Given the description of an element on the screen output the (x, y) to click on. 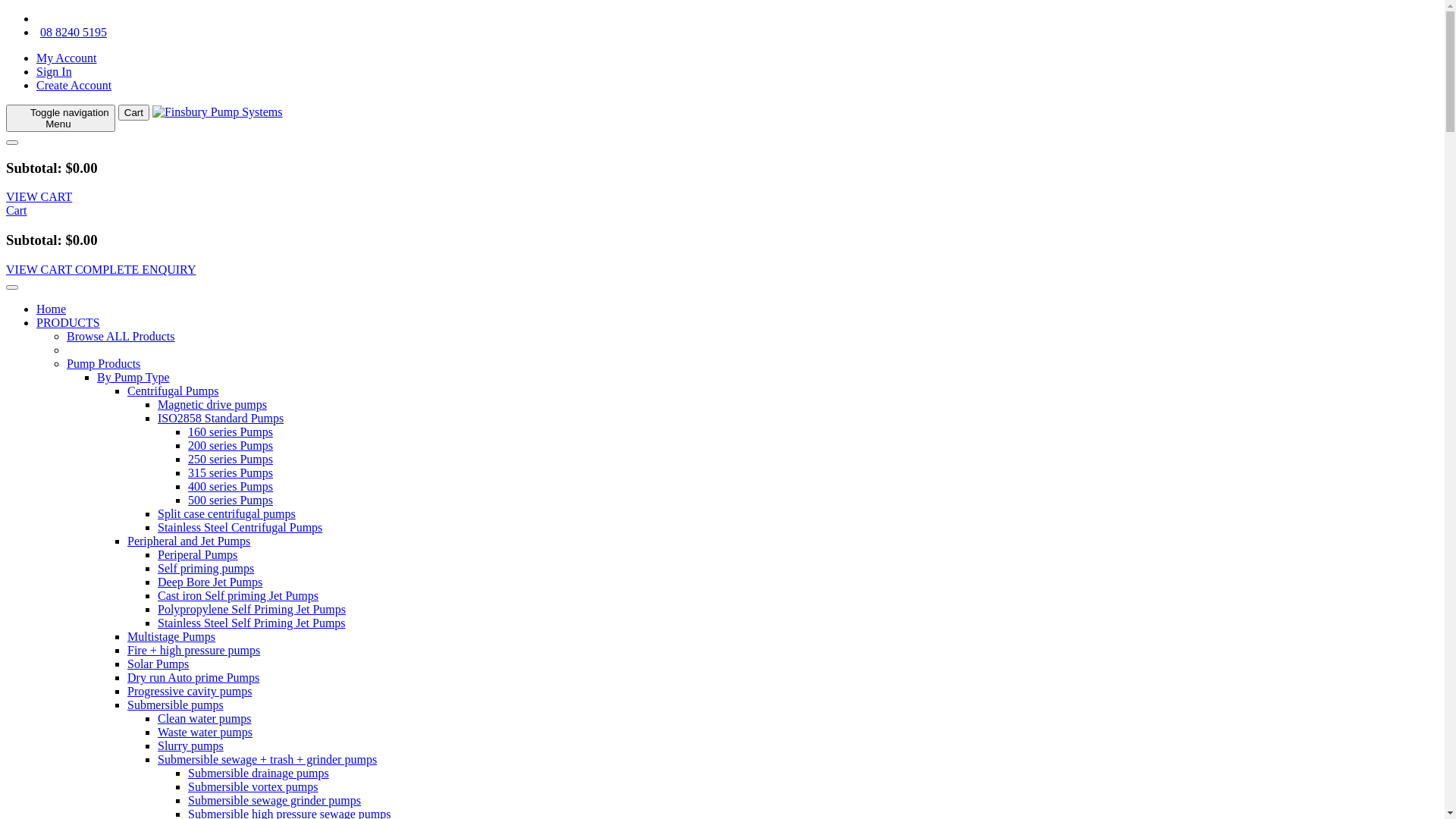
VIEW CART Element type: text (40, 269)
Cart Element type: text (133, 112)
Submersible vortex pumps Element type: text (253, 786)
Submersible drainage pumps Element type: text (258, 772)
315 series Pumps Element type: text (230, 472)
Dry run Auto prime Pumps Element type: text (193, 677)
PRODUCTS Element type: text (68, 322)
Toggle navigation
Menu Element type: text (60, 117)
500 series Pumps Element type: text (230, 499)
Create Account Element type: text (73, 84)
Peripheral and Jet Pumps Element type: text (188, 540)
Finsbury Pump Systems Element type: hover (217, 112)
Split case centrifugal pumps Element type: text (226, 513)
ISO2858 Standard Pumps Element type: text (220, 417)
Home Element type: text (50, 308)
250 series Pumps Element type: text (230, 458)
Pump Products Element type: text (103, 363)
By Pump Type Element type: text (133, 376)
Deep Bore Jet Pumps Element type: text (209, 581)
Browse ALL Products Element type: text (120, 335)
Submersible sewage + trash + grinder pumps Element type: text (266, 759)
Progressive cavity pumps Element type: text (189, 690)
200 series Pumps Element type: text (230, 445)
Stainless Steel Self Priming Jet Pumps Element type: text (251, 622)
400 series Pumps Element type: text (230, 486)
VIEW CART Element type: text (39, 196)
Slurry pumps Element type: text (190, 745)
Submersible pumps Element type: text (175, 704)
Submersible sewage grinder pumps Element type: text (274, 799)
Fire + high pressure pumps Element type: text (193, 649)
COMPLETE ENQUIRY Element type: text (135, 269)
My Account Element type: text (66, 57)
Magnetic drive pumps Element type: text (211, 404)
Cart Element type: text (16, 209)
Cast iron Self priming Jet Pumps Element type: text (237, 595)
Multistage Pumps Element type: text (171, 636)
Sign In Element type: text (54, 71)
Stainless Steel Centrifugal Pumps Element type: text (239, 526)
Polypropylene Self Priming Jet Pumps Element type: text (251, 608)
Self priming pumps Element type: text (205, 567)
Finsbury Pump Systems Element type: hover (217, 111)
Periperal Pumps Element type: text (197, 554)
Centrifugal Pumps Element type: text (172, 390)
Waste water pumps Element type: text (204, 731)
08 8240 5195 Element type: text (71, 31)
Solar Pumps Element type: text (157, 663)
160 series Pumps Element type: text (230, 431)
Clean water pumps Element type: text (204, 718)
